Given the description of an element on the screen output the (x, y) to click on. 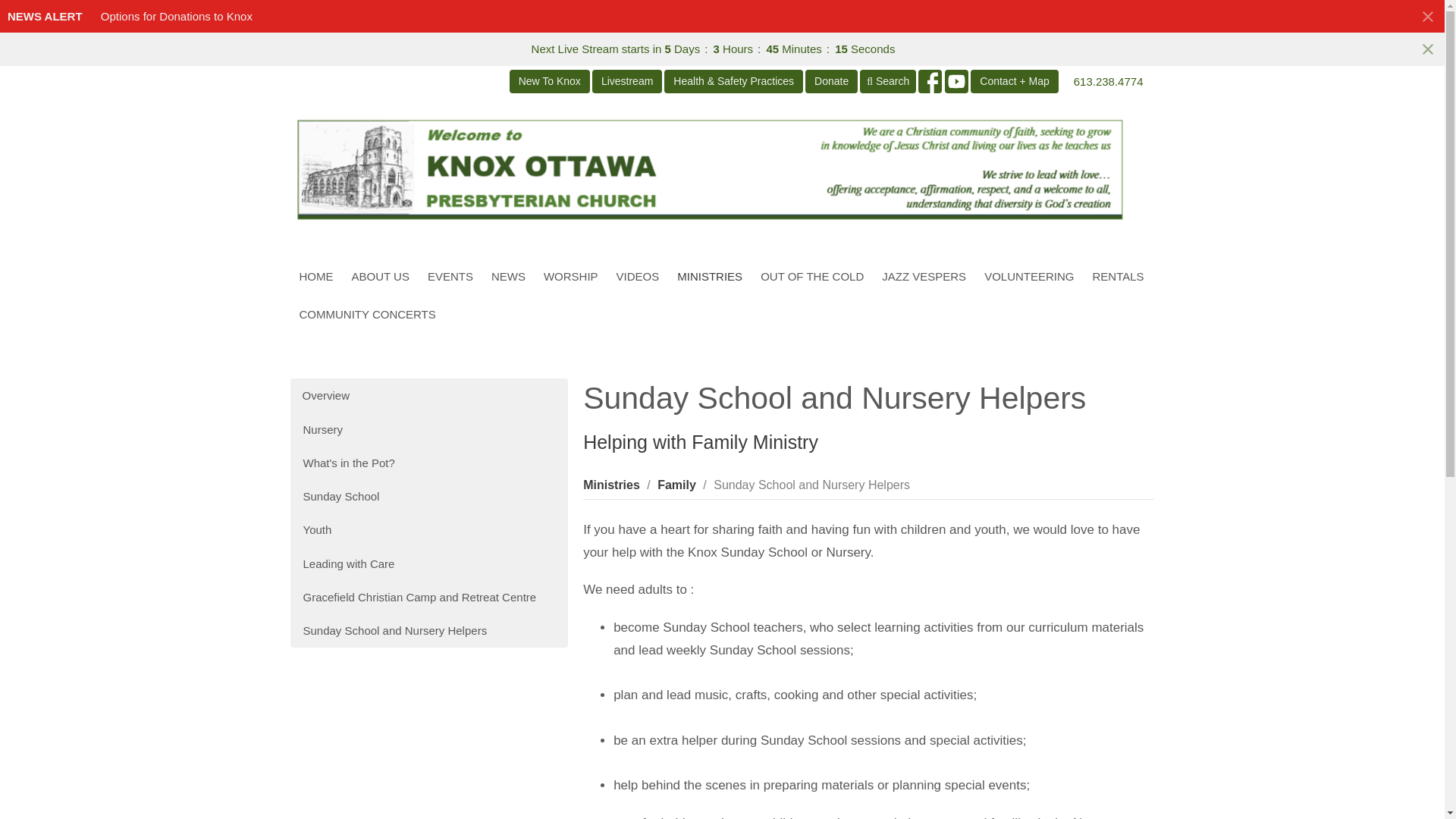
Donate (831, 81)
Options for Donations to Knox (175, 15)
HOME (315, 275)
RENTALS (1118, 275)
Search (887, 81)
Facebook Icon (930, 81)
NEWS (507, 275)
VIDEOS (637, 275)
613.238.4774 (1108, 81)
Overview (428, 395)
Youtube Icon (956, 81)
What's in the Pot? (428, 462)
MINISTRIES (709, 275)
Livestream (627, 81)
OUT OF THE COLD (811, 275)
